Given the description of an element on the screen output the (x, y) to click on. 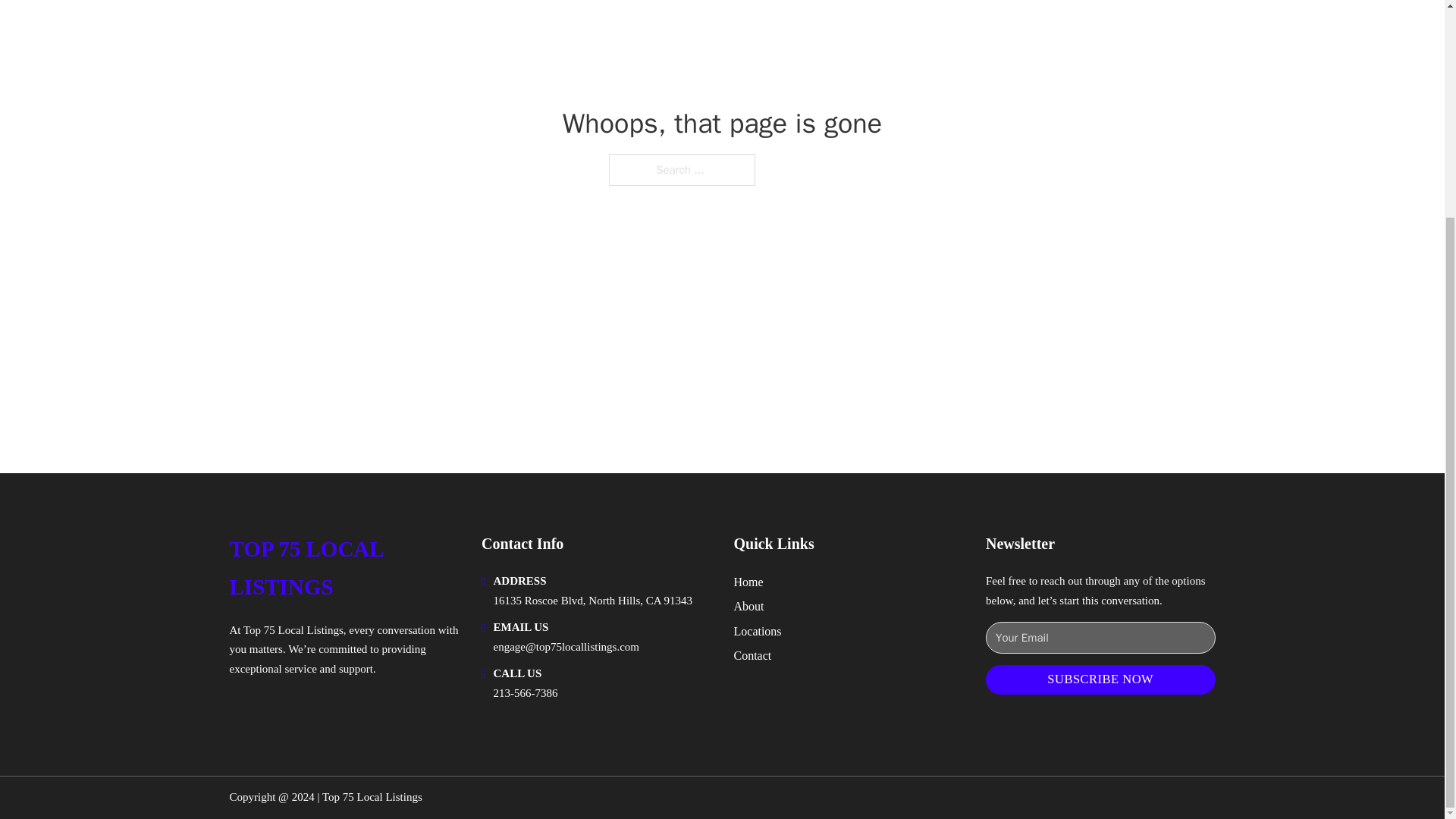
Locations (757, 630)
SUBSCRIBE NOW (1100, 679)
213-566-7386 (525, 693)
About (748, 606)
TOP 75 LOCAL LISTINGS (343, 568)
Contact (752, 655)
Home (747, 581)
